Given the description of an element on the screen output the (x, y) to click on. 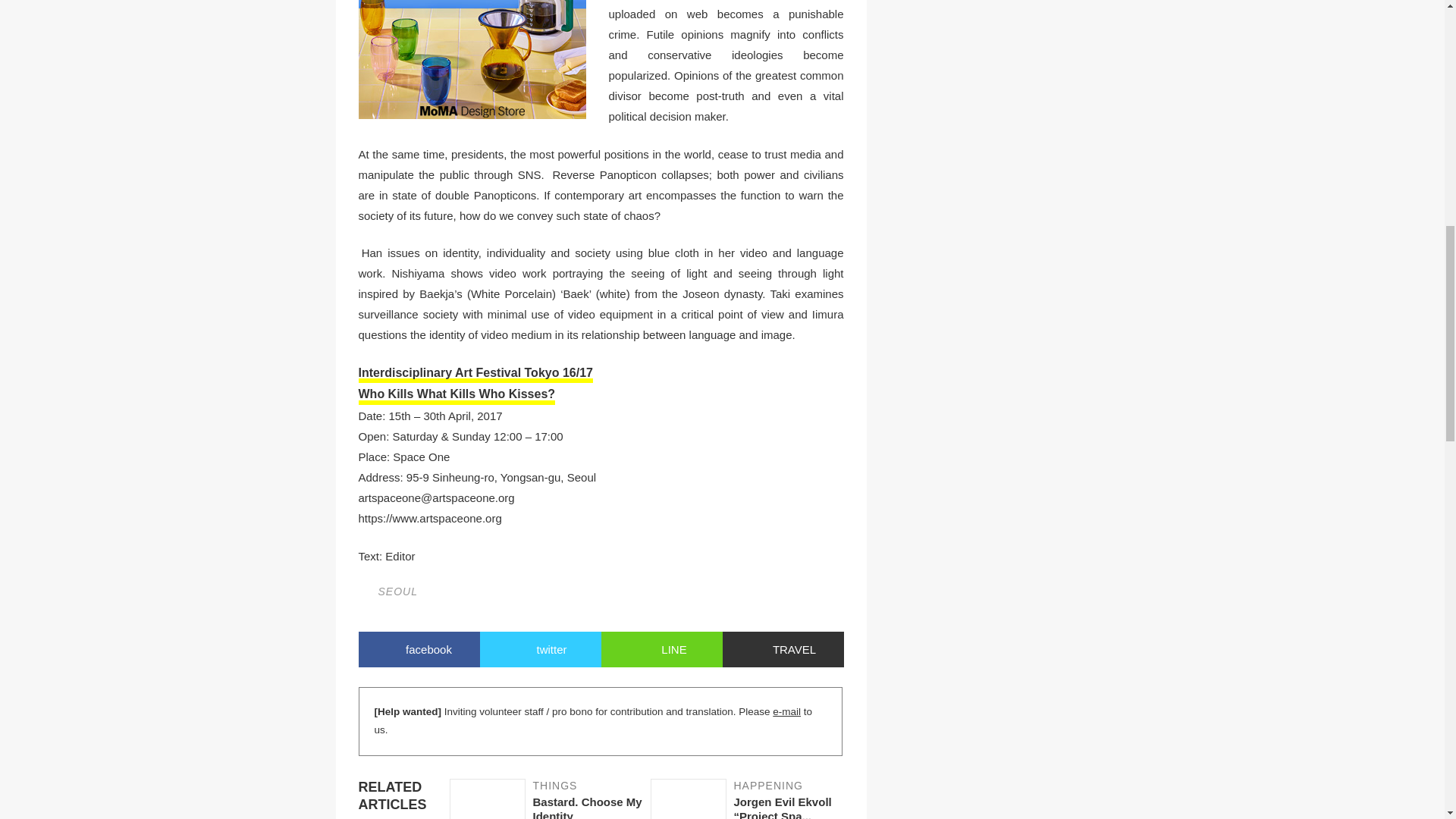
LINE (660, 649)
facebook (418, 649)
TRAVEL (782, 649)
e-mail (786, 711)
Editor (548, 798)
twitter (399, 555)
SEOUL (539, 649)
